Given the description of an element on the screen output the (x, y) to click on. 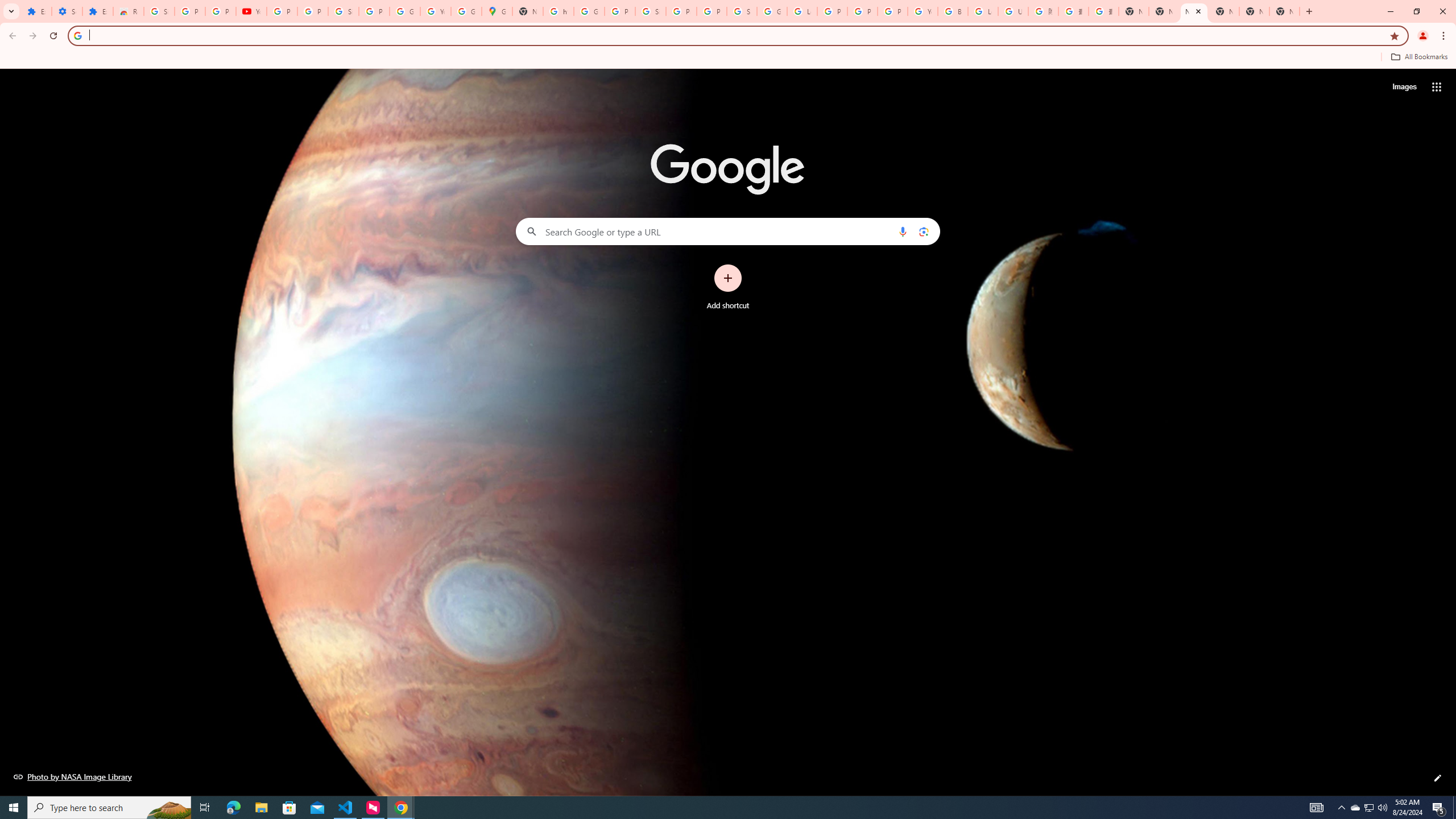
Add shortcut (727, 287)
New Tab (1283, 11)
New Tab (1133, 11)
Search Google or type a URL (727, 230)
Sign in - Google Accounts (741, 11)
Google Account (404, 11)
Google Maps (496, 11)
